Given the description of an element on the screen output the (x, y) to click on. 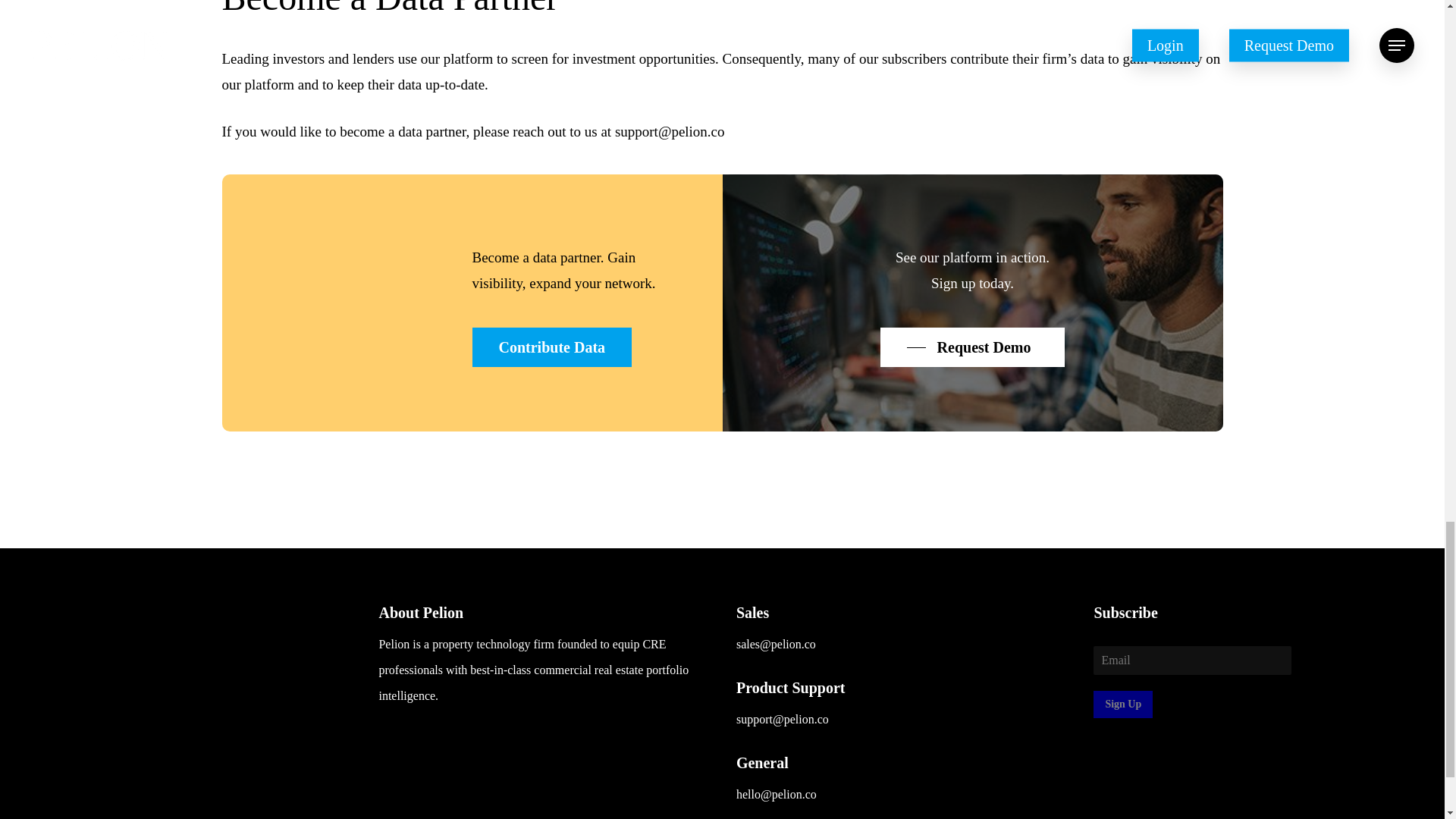
Sign Up (1123, 704)
Contribute Data (552, 347)
Request Demo (973, 347)
